Given the description of an element on the screen output the (x, y) to click on. 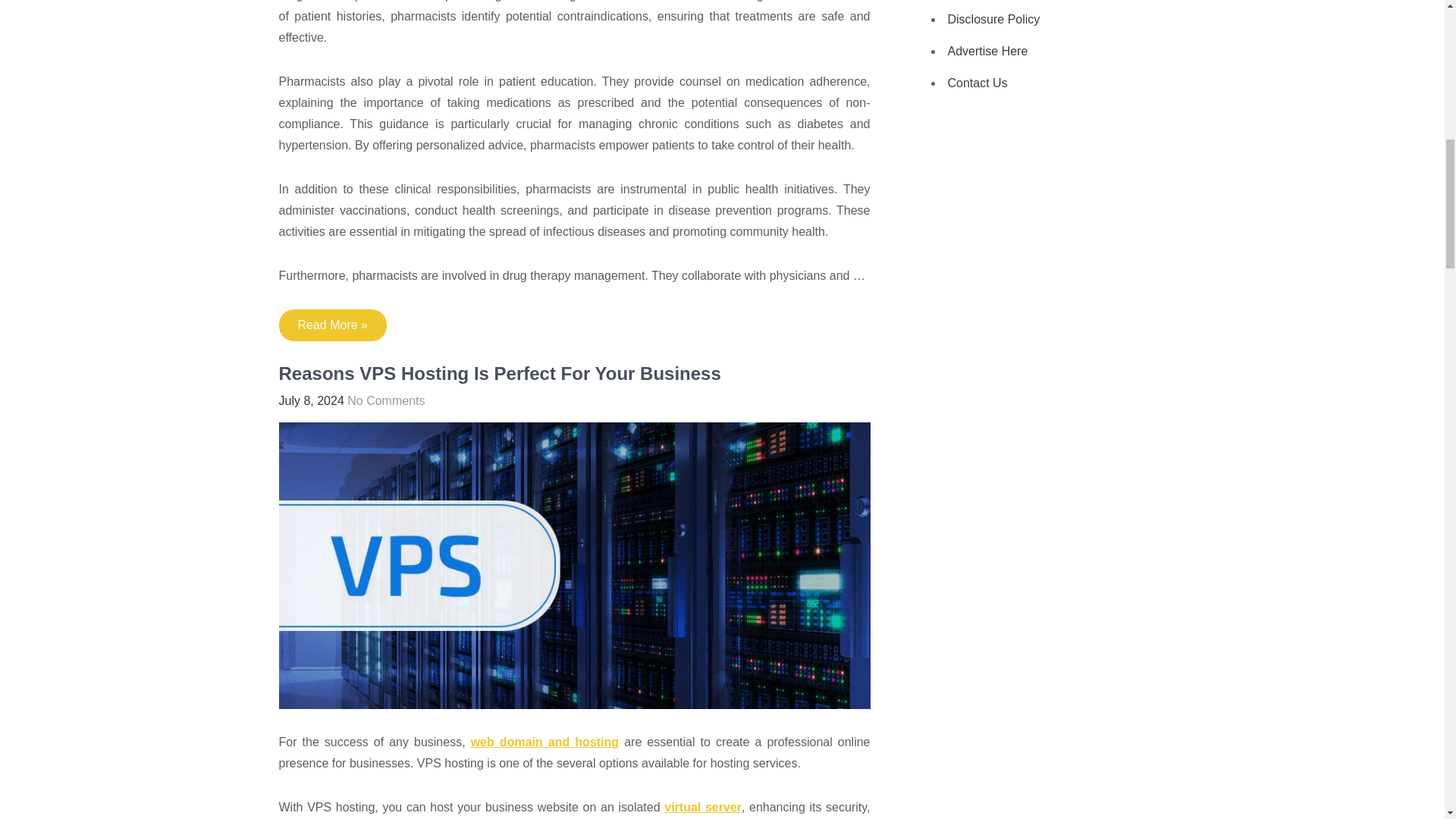
No Comments (386, 400)
Reasons VPS Hosting Is Perfect For Your Business (499, 373)
web domain and hosting (544, 741)
virtual server (702, 807)
